Given the description of an element on the screen output the (x, y) to click on. 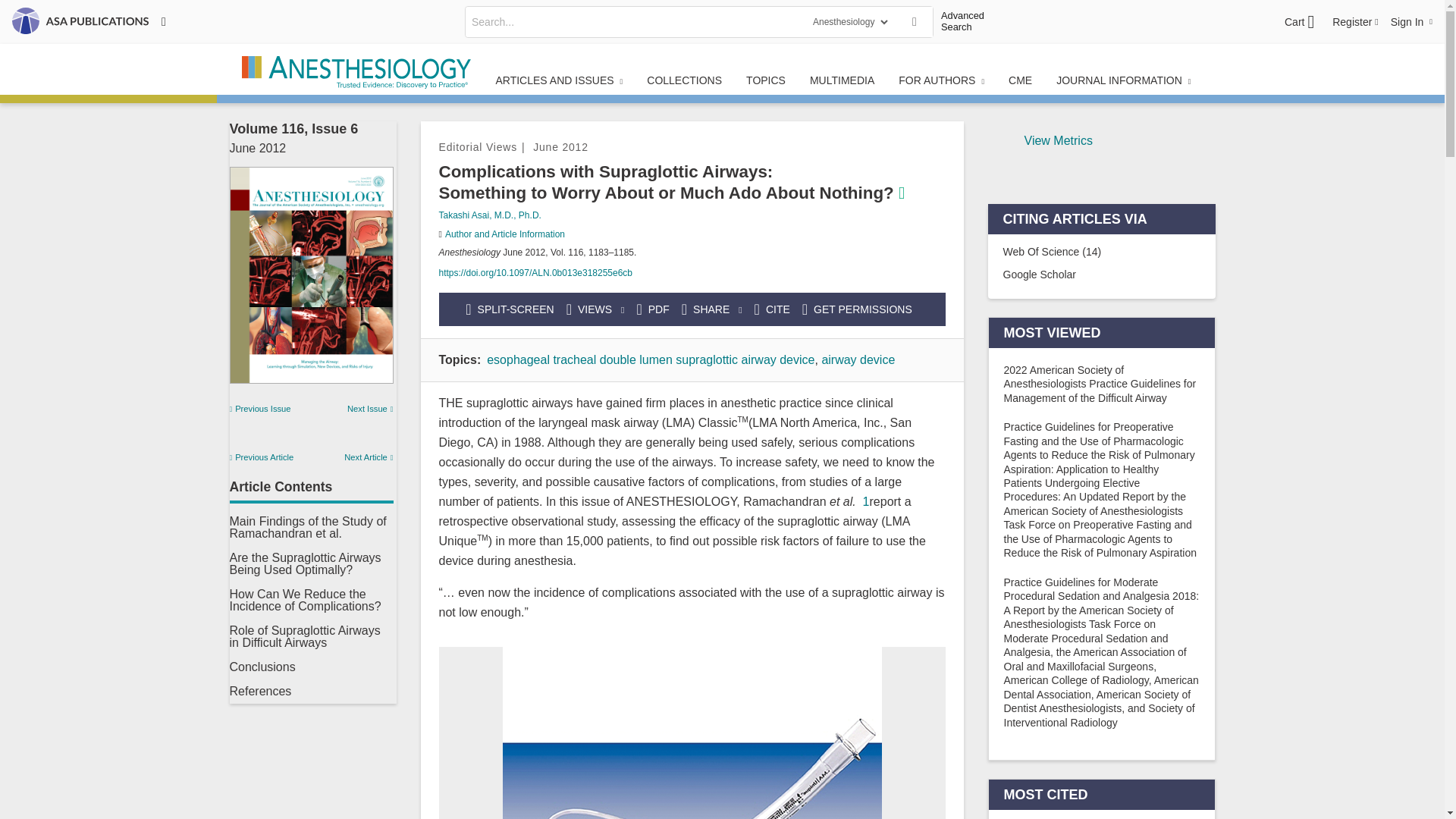
JOURNAL INFORMATION (1122, 80)
Advanced Search (967, 21)
References (259, 690)
TOPICS (765, 80)
Register (1355, 21)
CME (1019, 80)
MULTIMEDIA (841, 80)
Sign In (1411, 21)
FOR AUTHORS (940, 80)
Cart (1299, 22)
